Given the description of an element on the screen output the (x, y) to click on. 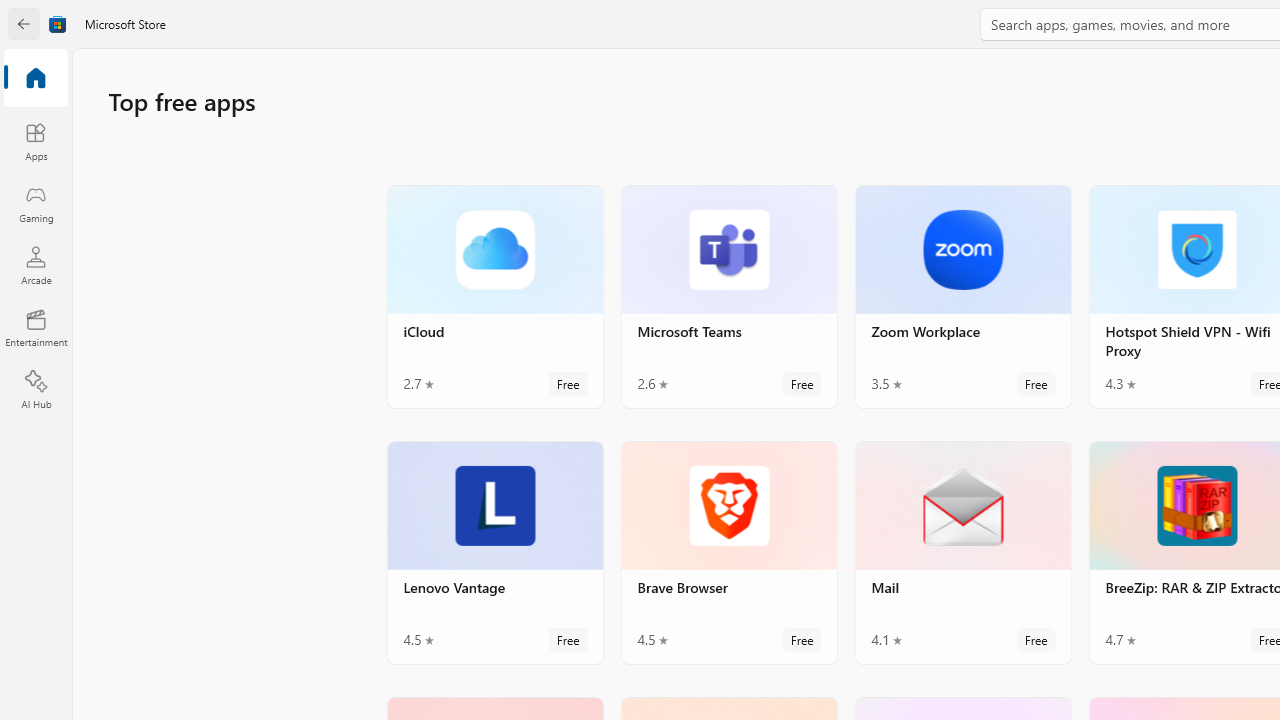
Mail. Average rating of 4.1 out of five stars. Free   (962, 551)
iCloud. Average rating of 2.7 out of five stars. Free   (495, 296)
Back (24, 24)
